Given the description of an element on the screen output the (x, y) to click on. 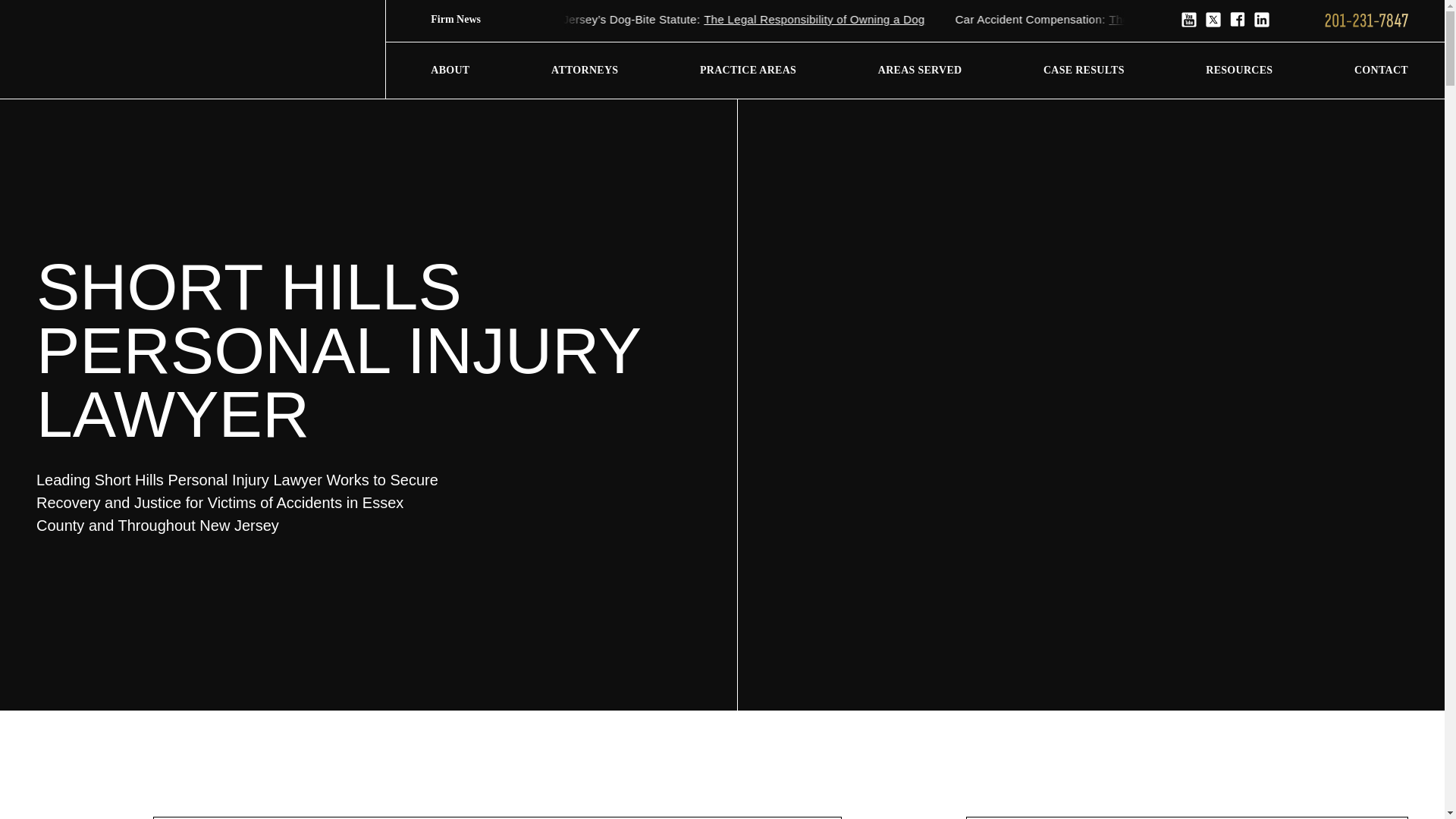
Firm News (473, 19)
ABOUT (449, 70)
PRACTICE AREAS (748, 70)
The Legal Responsibility of Owning a Dog (879, 19)
Protecting Your Rights (512, 19)
ATTORNEYS (584, 70)
